Given the description of an element on the screen output the (x, y) to click on. 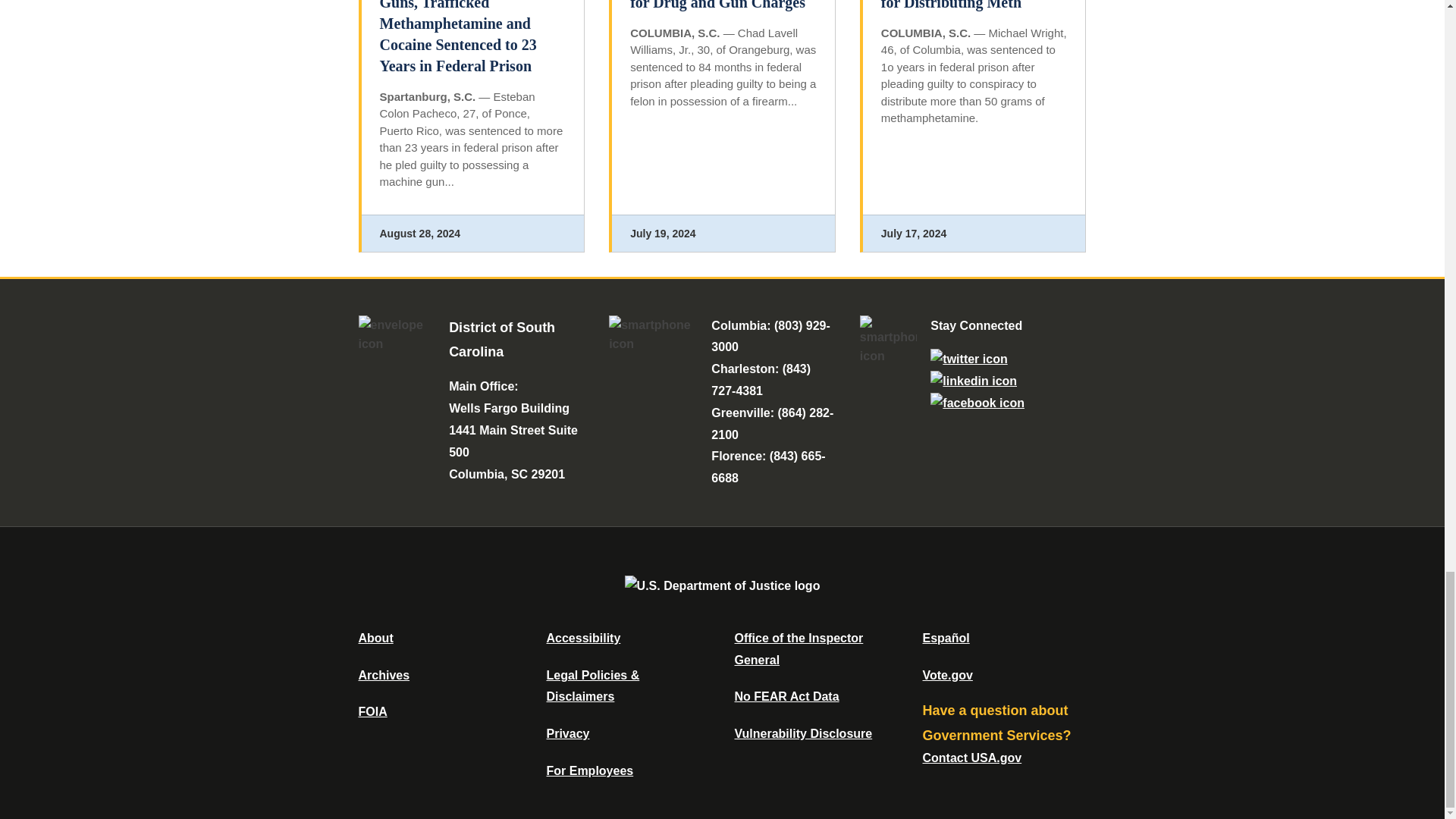
About DOJ (375, 637)
For Employees (589, 770)
Data Posted Pursuant To The No Fear Act (785, 696)
Office of Information Policy (372, 711)
Department of Justice Archive (383, 675)
Legal Policies and Disclaimers (592, 686)
Accessibility Statement (583, 637)
